Given the description of an element on the screen output the (x, y) to click on. 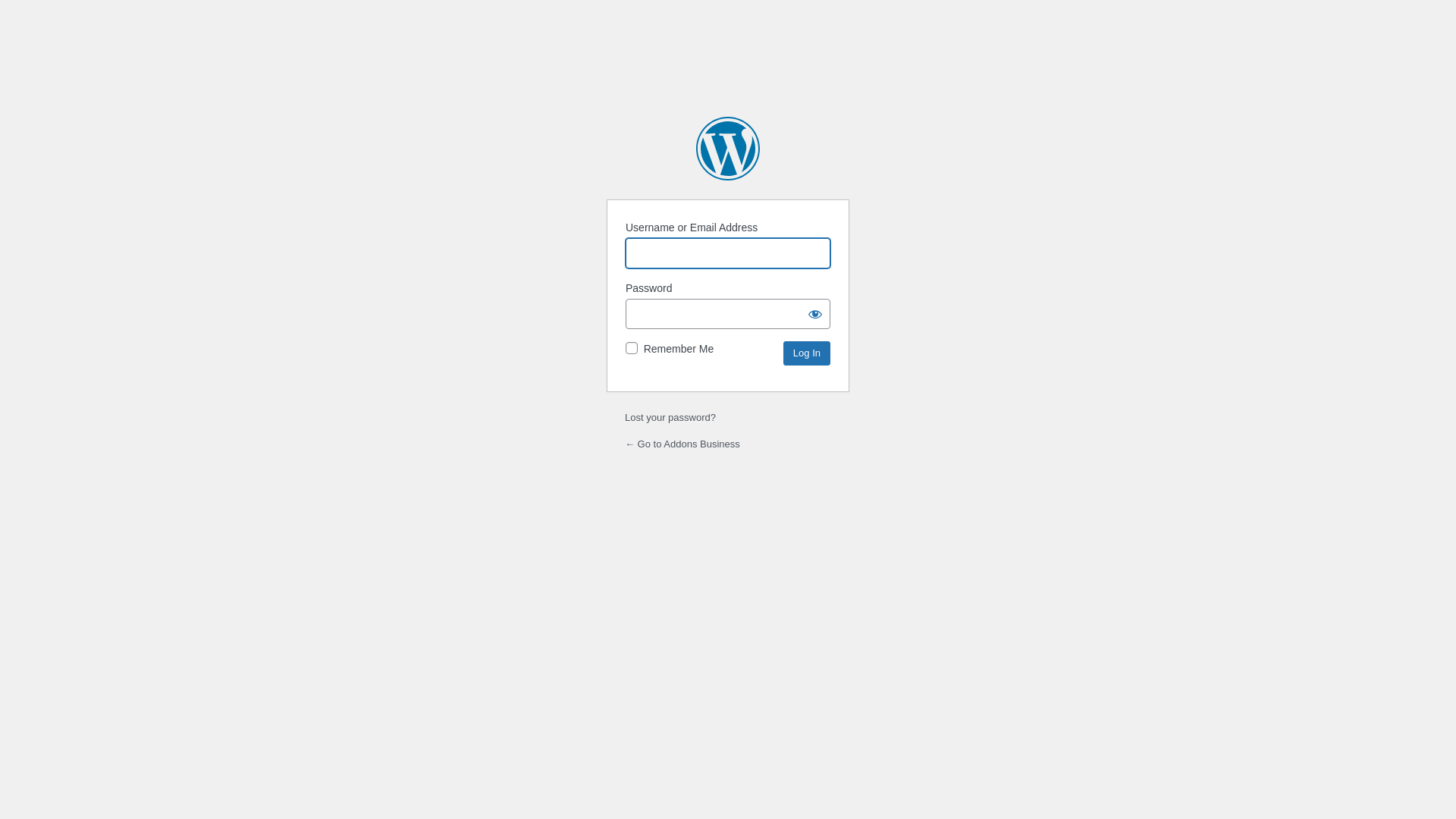
Log In Element type: text (806, 353)
Powered by WordPress Element type: text (727, 148)
Lost your password? Element type: text (669, 417)
